Given the description of an element on the screen output the (x, y) to click on. 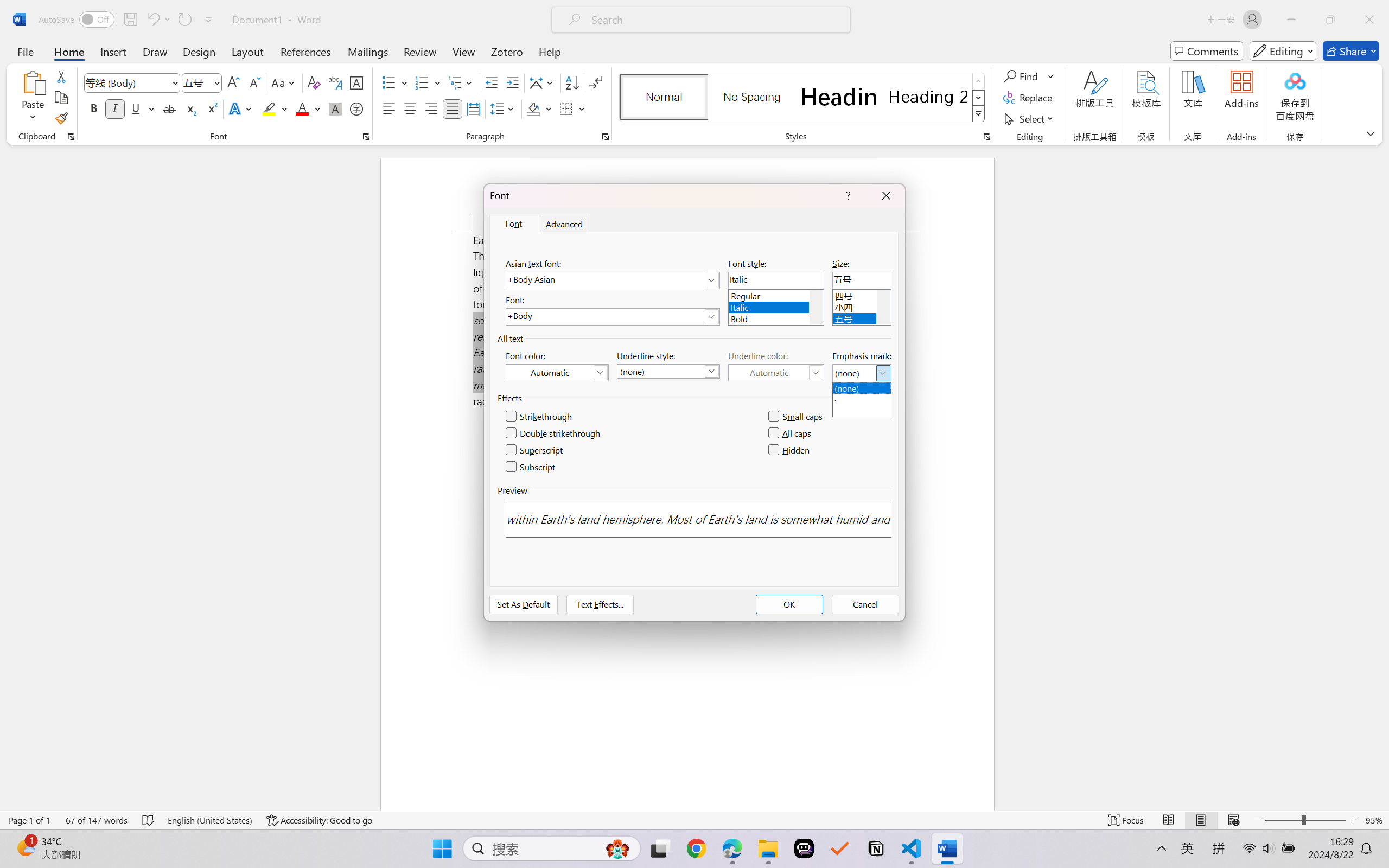
Superscript (535, 450)
Align Right (431, 108)
Styles (978, 113)
Subscript (530, 466)
Align Left (388, 108)
Zoom 95% (1374, 819)
